Given the description of an element on the screen output the (x, y) to click on. 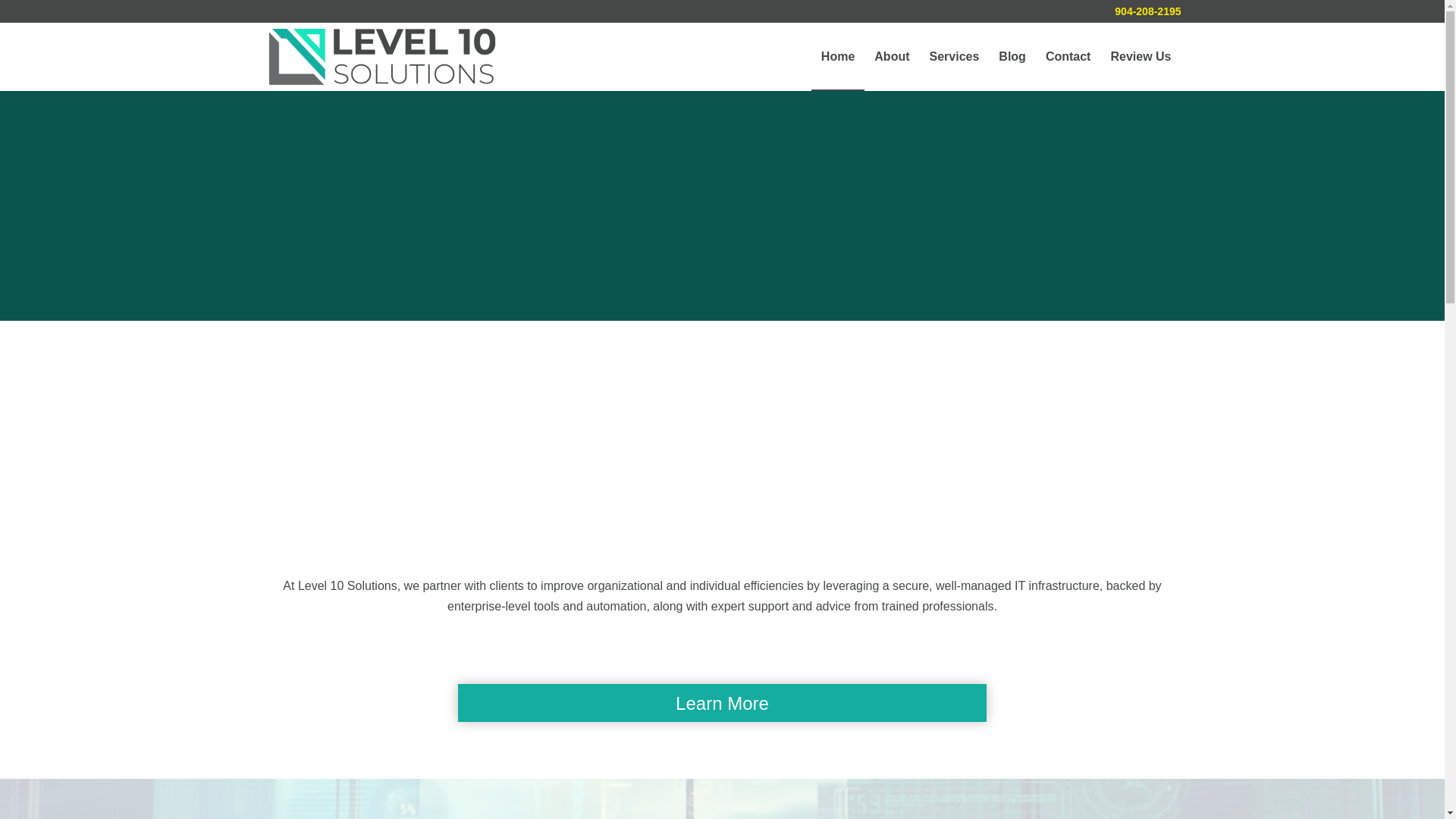
Review Us (1140, 56)
Services (953, 56)
Learn More (722, 702)
Contact (1067, 56)
904-208-2195 (1147, 10)
logo-level10solutions-nav (381, 56)
